Given the description of an element on the screen output the (x, y) to click on. 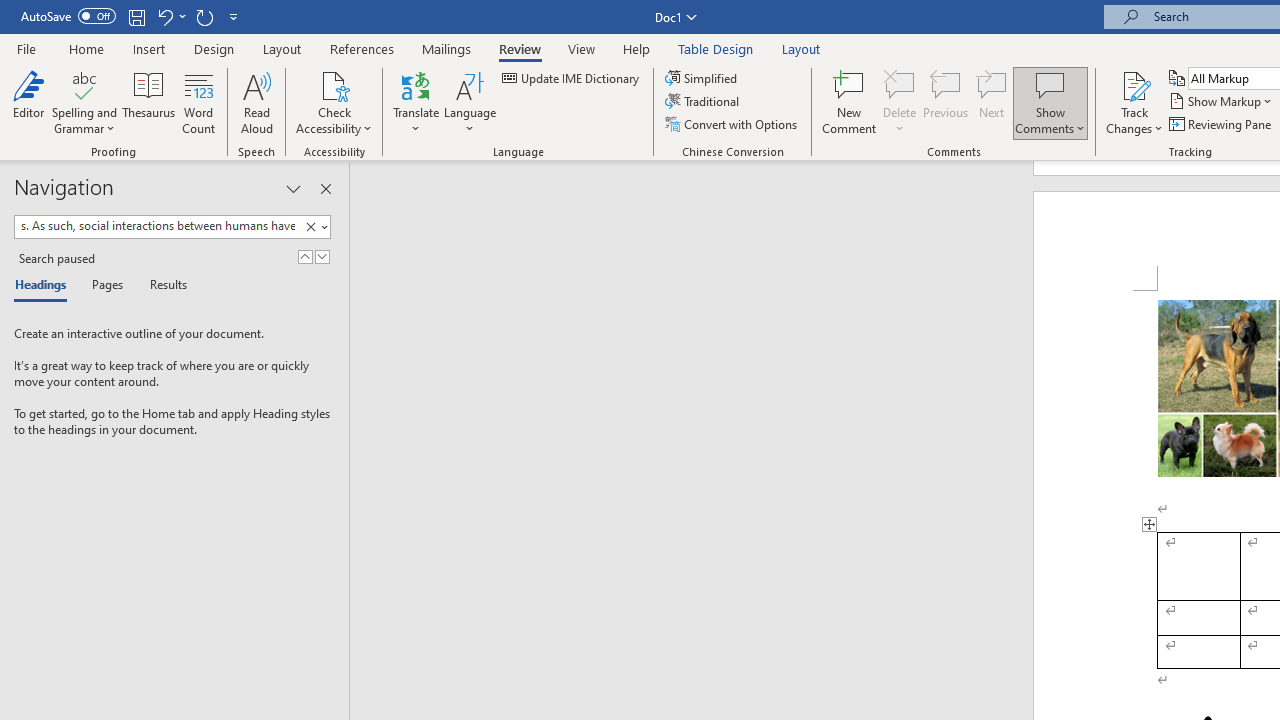
Headings (45, 285)
Previous Result (304, 256)
Track Changes (1134, 102)
Simplified (702, 78)
Update IME Dictionary... (572, 78)
Next (991, 102)
Check Accessibility (334, 102)
Word Count (198, 102)
Undo Style (164, 15)
Clear (310, 227)
